Given the description of an element on the screen output the (x, y) to click on. 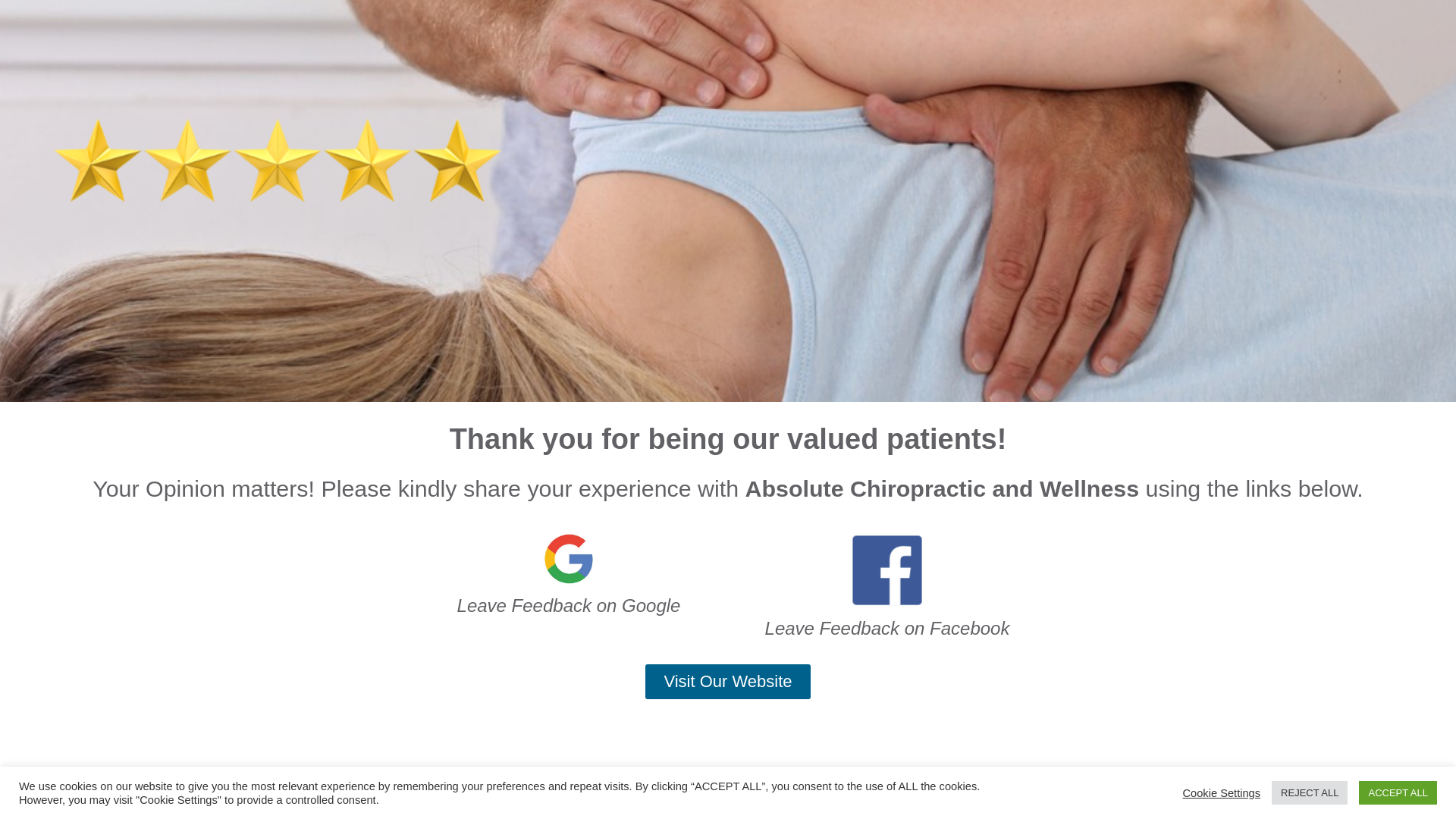
ACCEPT ALL Element type: text (1397, 792)
Cookie Settings Element type: text (1221, 792)
REJECT ALL Element type: text (1309, 792)
Visit Our Website Element type: text (727, 681)
